Given the description of an element on the screen output the (x, y) to click on. 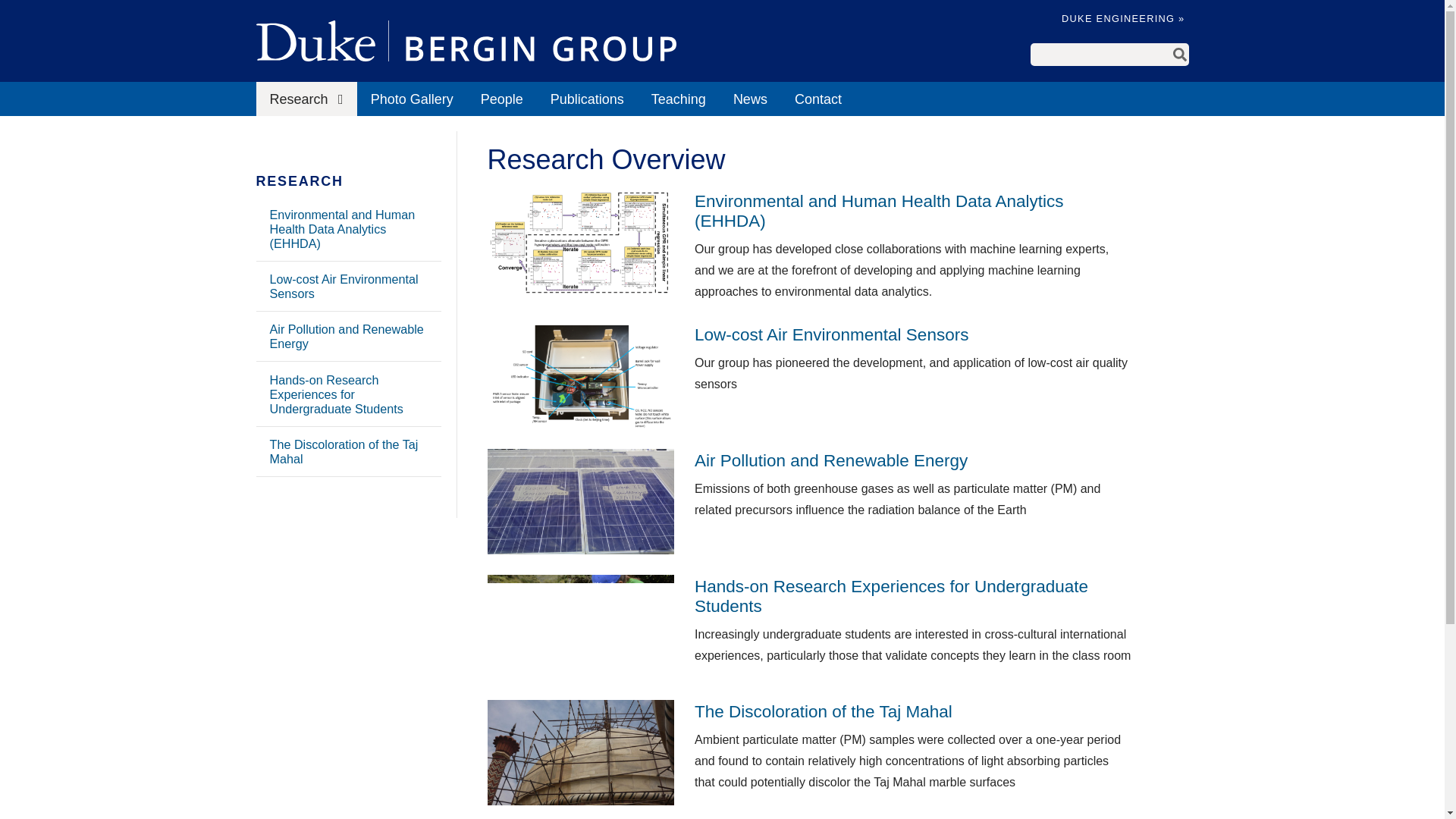
Air Pollution and Renewable Energy (348, 336)
Low-cost Air Environmental Sensors (348, 286)
Enter the terms you wish to search for. (1100, 54)
Hands-on Research Experiences for Undergraduate Students (348, 393)
Teaching (678, 98)
News (749, 98)
Photo Gallery (411, 98)
Contact Us (818, 98)
The Discoloration of the Taj Mahal (348, 451)
Publications (587, 98)
People (502, 98)
Contact (818, 98)
Search (1179, 54)
